Given the description of an element on the screen output the (x, y) to click on. 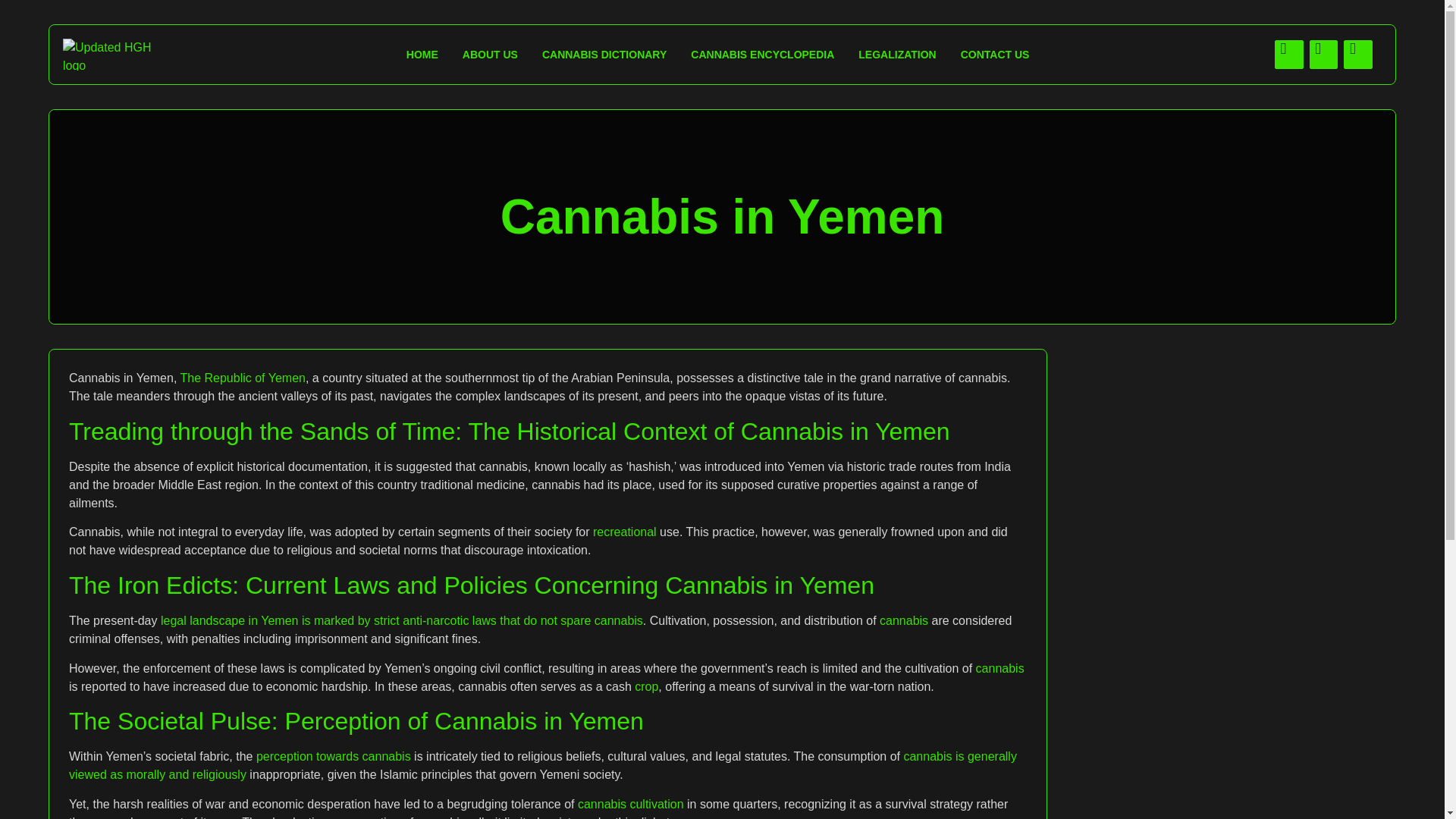
CONTACT US (995, 54)
CANNABIS DICTIONARY (603, 54)
ABOUT US (489, 54)
HOME (421, 54)
CANNABIS ENCYCLOPEDIA (761, 54)
LEGALIZATION (896, 54)
